Given the description of an element on the screen output the (x, y) to click on. 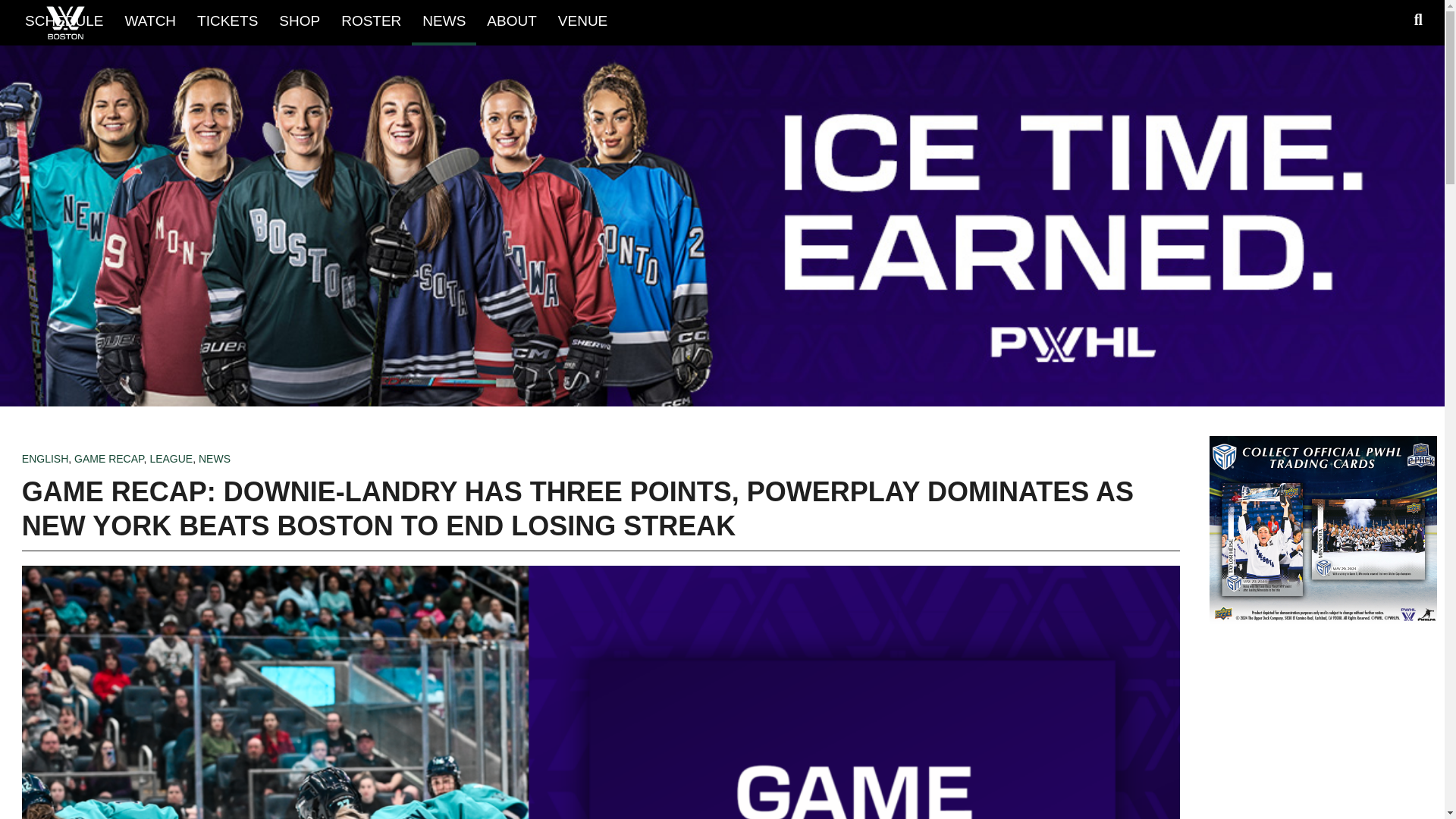
NEWS (214, 458)
ABOUT (511, 21)
GAME RECAP (109, 458)
PWHL Boston (65, 22)
WATCH (151, 21)
ROSTER (371, 21)
NEWS (444, 21)
TICKETS (226, 21)
SHOP (298, 21)
LEAGUE (170, 458)
ENGLISH (44, 458)
SCHEDULE (63, 21)
VENUE (582, 21)
